Given the description of an element on the screen output the (x, y) to click on. 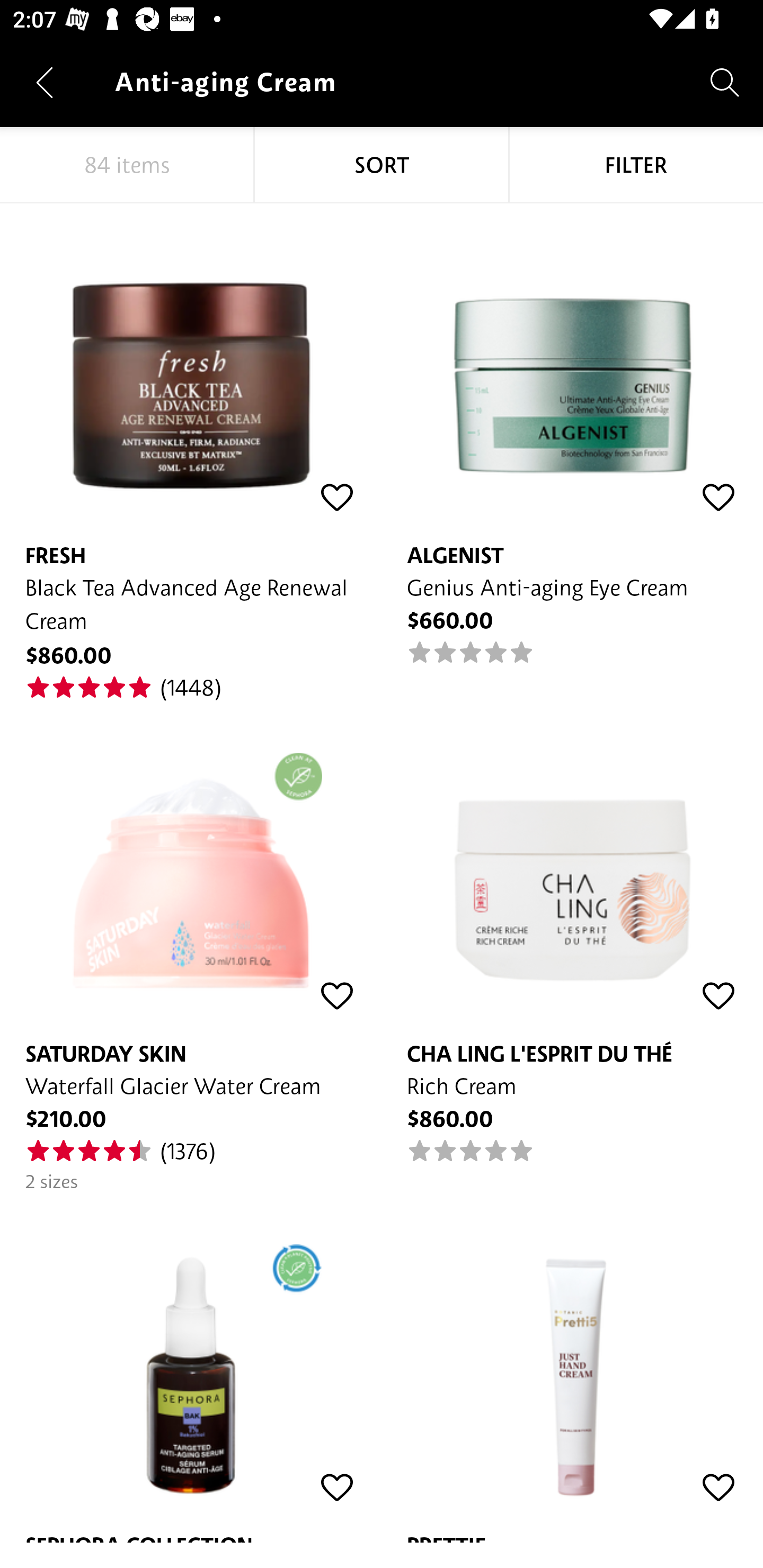
Navigate up (44, 82)
Search (724, 81)
SORT (381, 165)
FILTER (636, 165)
ALGENIST Genius Anti-aging Eye Cream $660.00 (571, 434)
CHA LING L'ESPRIT DU THÉ Rich Cream $860.00 (571, 933)
SEPHORA COLLECTION Targeted Anti-Aging Serum (190, 1367)
PRETTI5 Just Hand Cream (571, 1367)
